Given the description of an element on the screen output the (x, y) to click on. 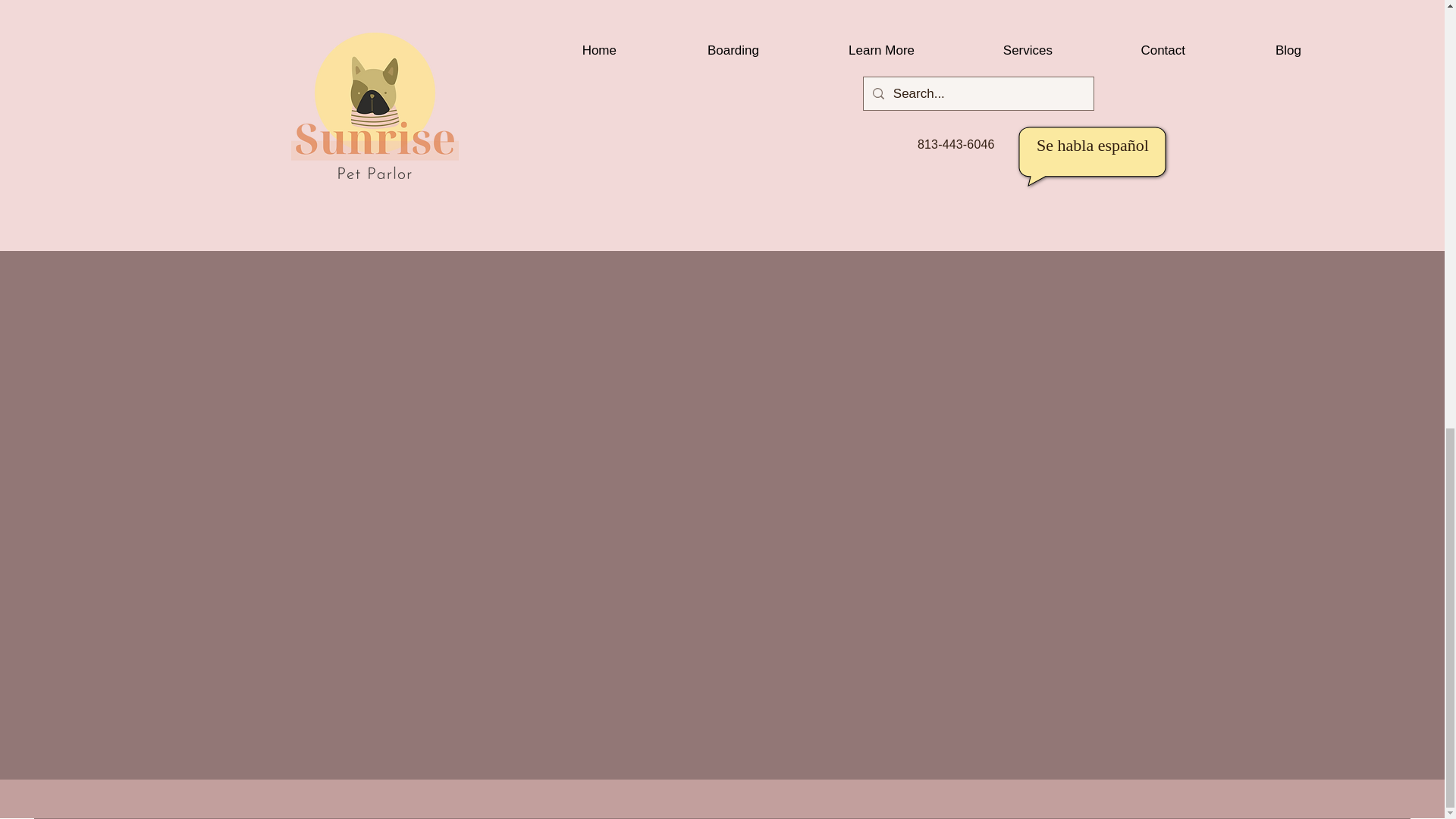
Book an Appointment (1157, 196)
